Given the description of an element on the screen output the (x, y) to click on. 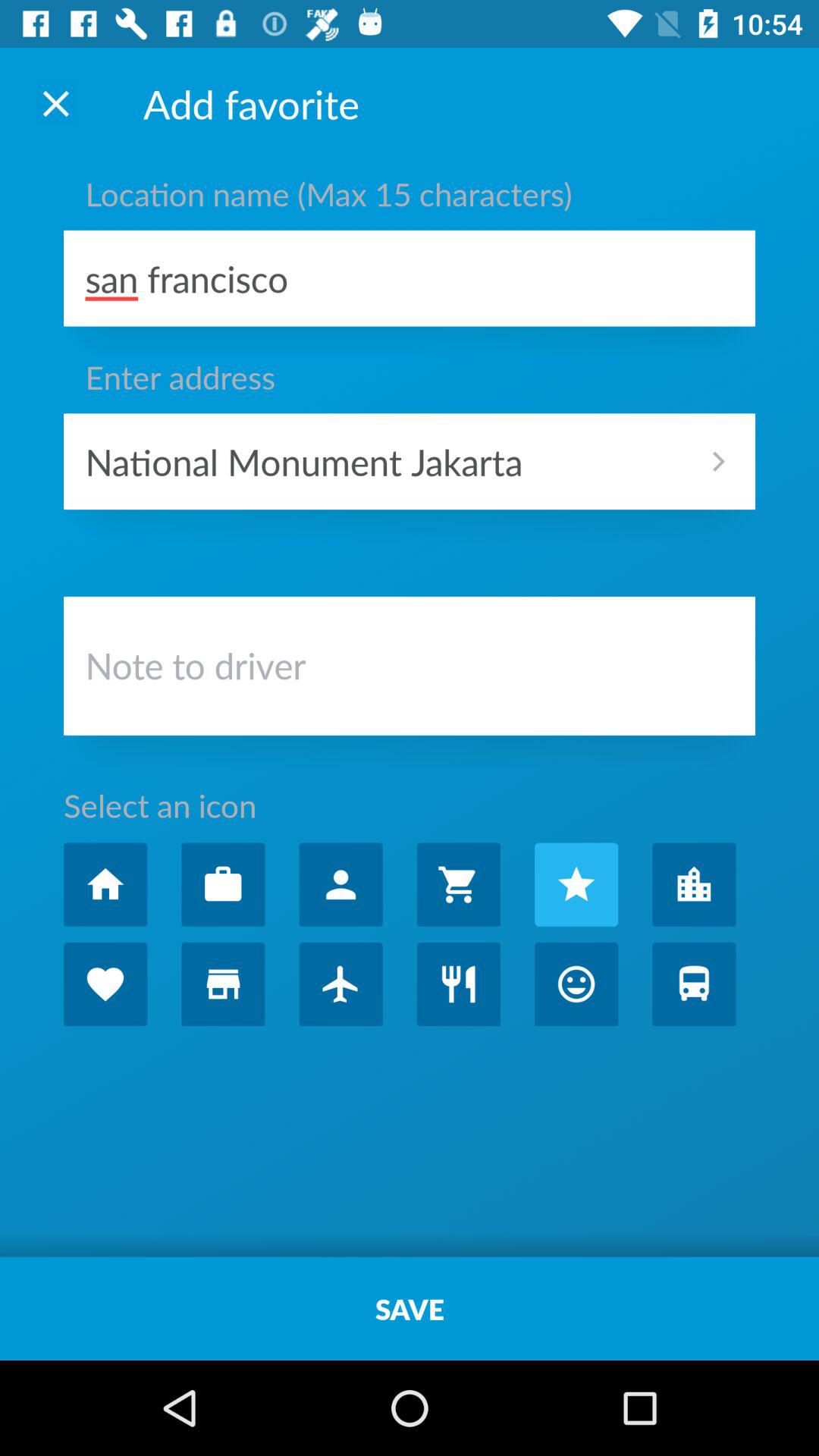
icon for favorite choice (576, 884)
